Given the description of an element on the screen output the (x, y) to click on. 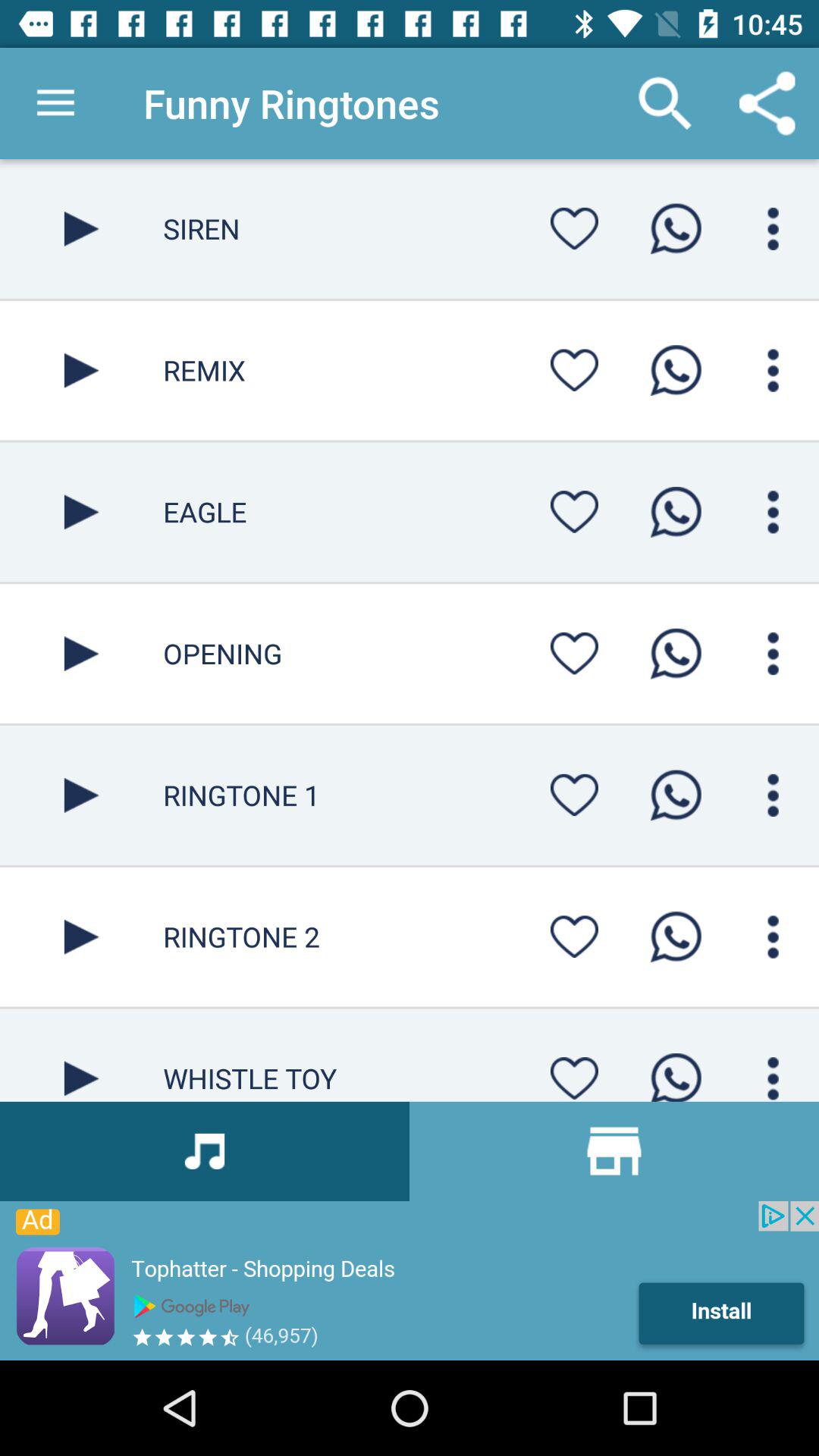
select button (81, 511)
